Given the description of an element on the screen output the (x, y) to click on. 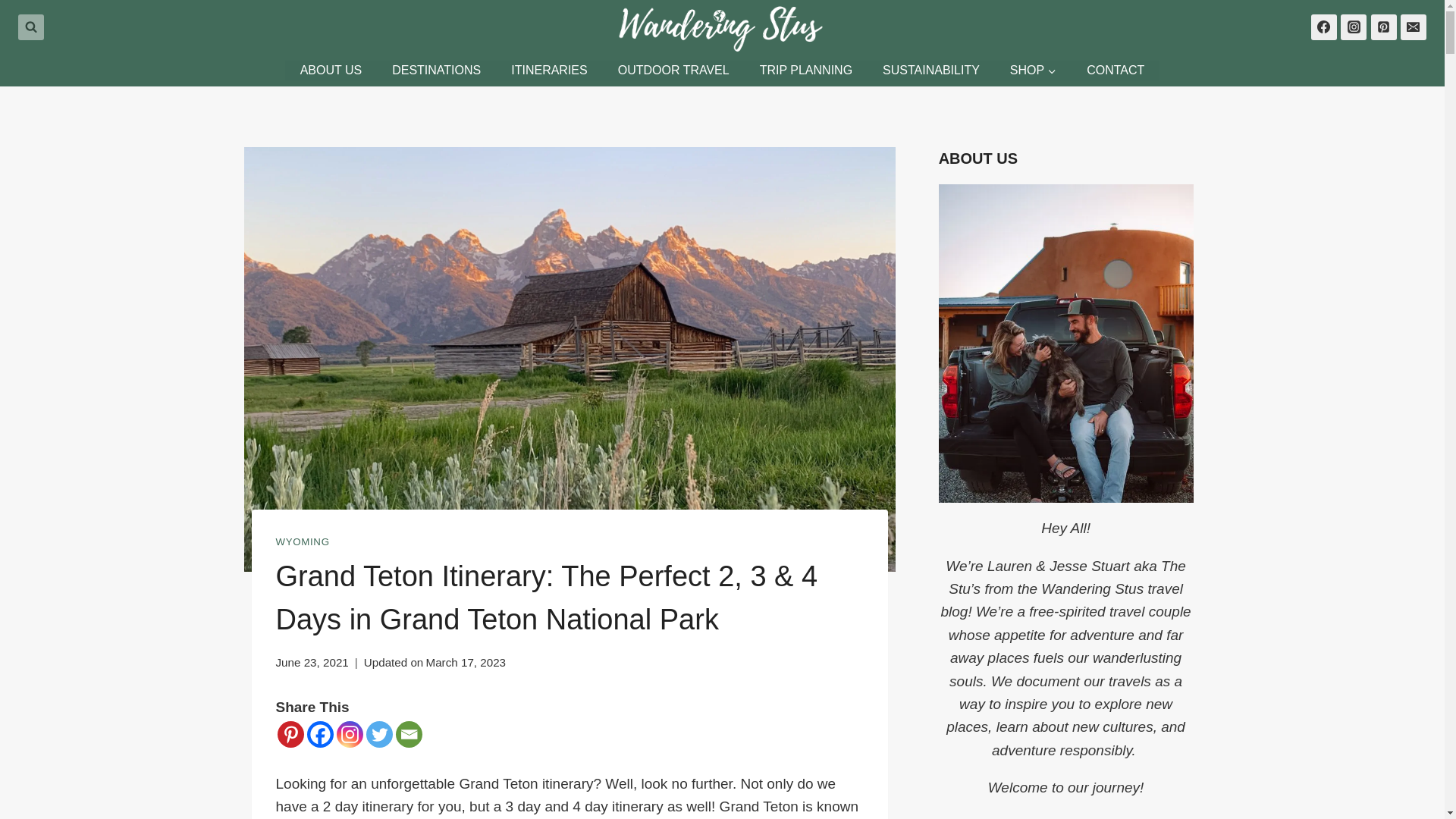
OUTDOOR TRAVEL (673, 70)
TRIP PLANNING (805, 70)
ITINERARIES (549, 70)
WYOMING (303, 541)
Pinterest (291, 734)
DESTINATIONS (436, 70)
Email (409, 734)
SHOP (1032, 70)
ABOUT US (331, 70)
CONTACT (1114, 70)
SUSTAINABILITY (930, 70)
Facebook (319, 734)
Instagram (349, 734)
Twitter (378, 734)
